Given the description of an element on the screen output the (x, y) to click on. 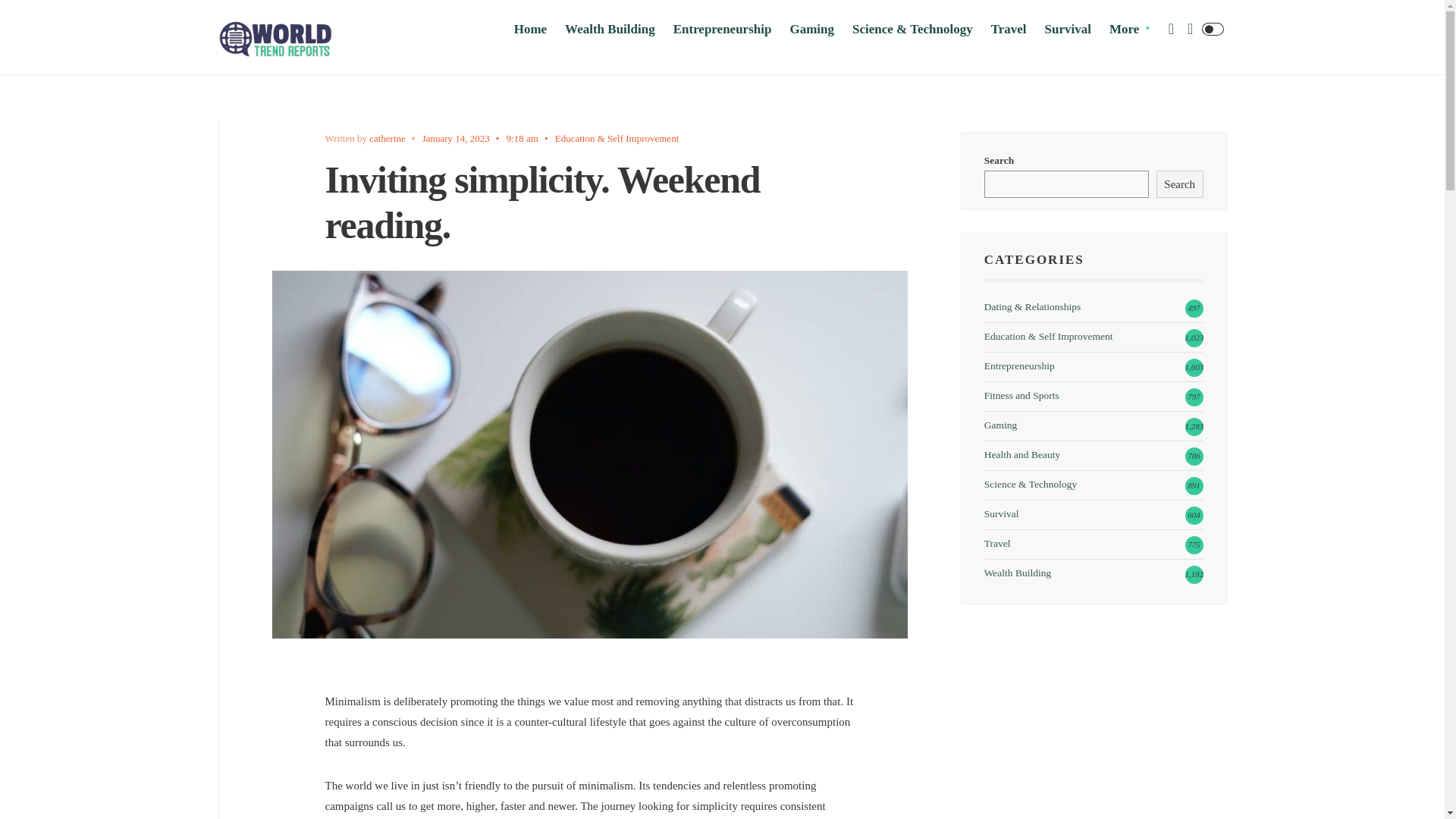
Posts by catherine (387, 138)
Home (530, 28)
More (1129, 28)
Entrepreneurship (721, 28)
catherine (387, 138)
Travel (1008, 28)
Survival (1067, 28)
Gaming (811, 28)
Wealth Building (609, 28)
